Given the description of an element on the screen output the (x, y) to click on. 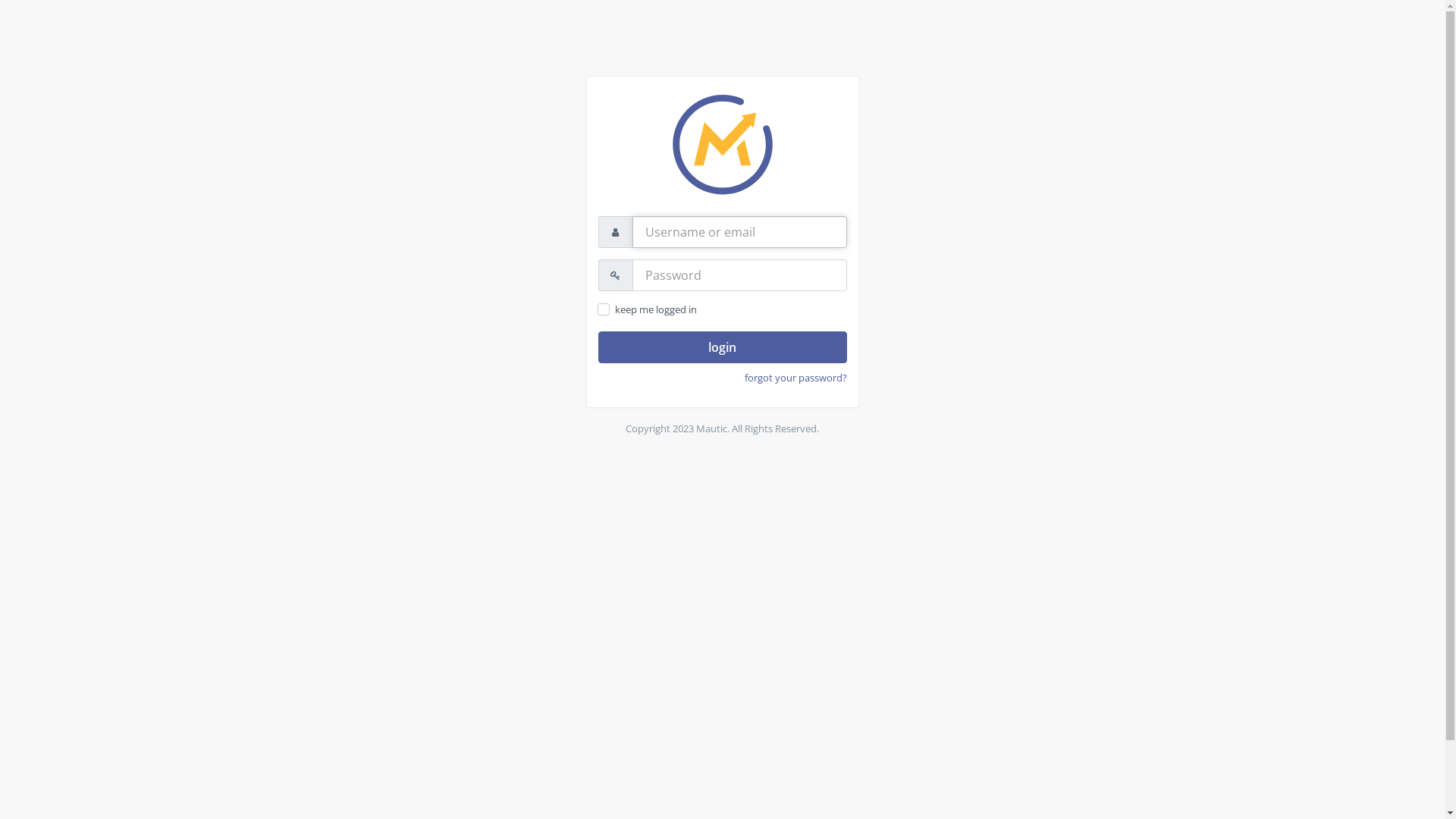
forgot your password? Element type: text (795, 377)
login Element type: text (721, 347)
